Given the description of an element on the screen output the (x, y) to click on. 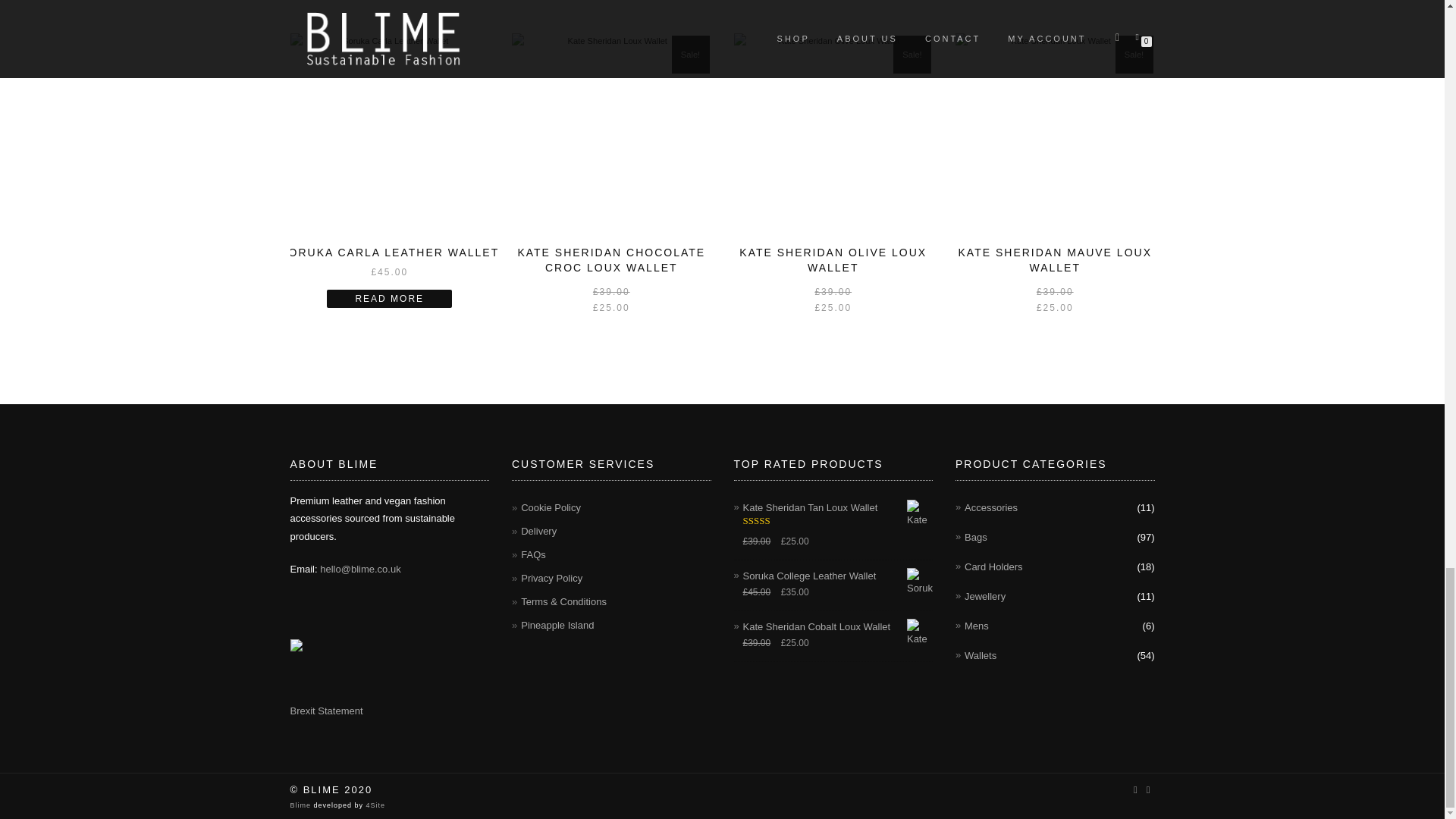
READ MORE (388, 298)
Kate Sheridan Olive Loux Wallet (832, 132)
Kate Sheridan Loux Wallet (611, 132)
Soruka Carla Leather Wallet (389, 132)
Kate Sheridan Loux Wallet (1054, 132)
